Given the description of an element on the screen output the (x, y) to click on. 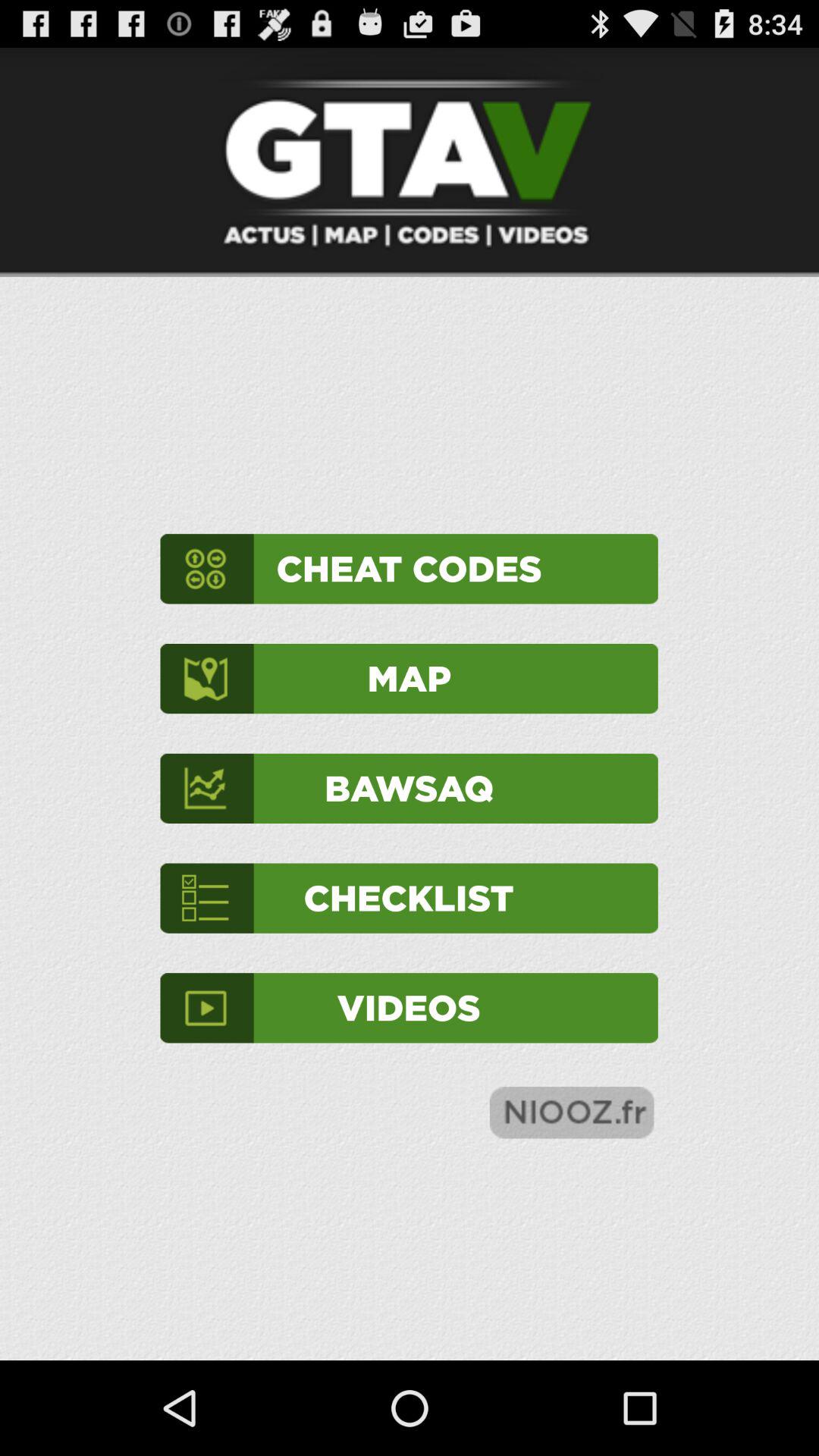
turn on the bawsaq icon (409, 788)
